Given the description of an element on the screen output the (x, y) to click on. 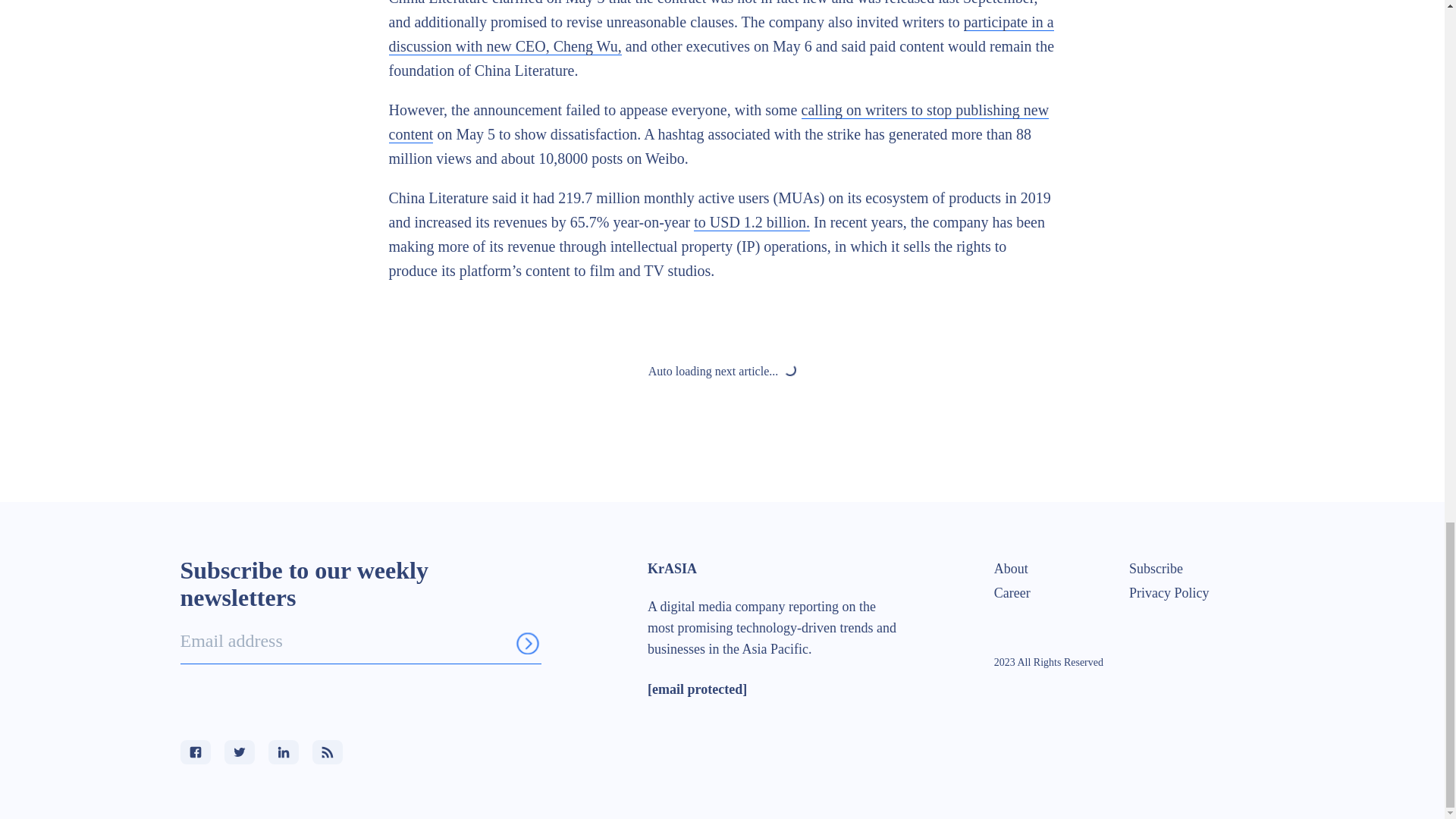
participate in a discussion with new CEO, Cheng Wu, (720, 34)
calling on writers to stop publishing new content (718, 122)
to USD 1.2 billion. (751, 221)
